Given the description of an element on the screen output the (x, y) to click on. 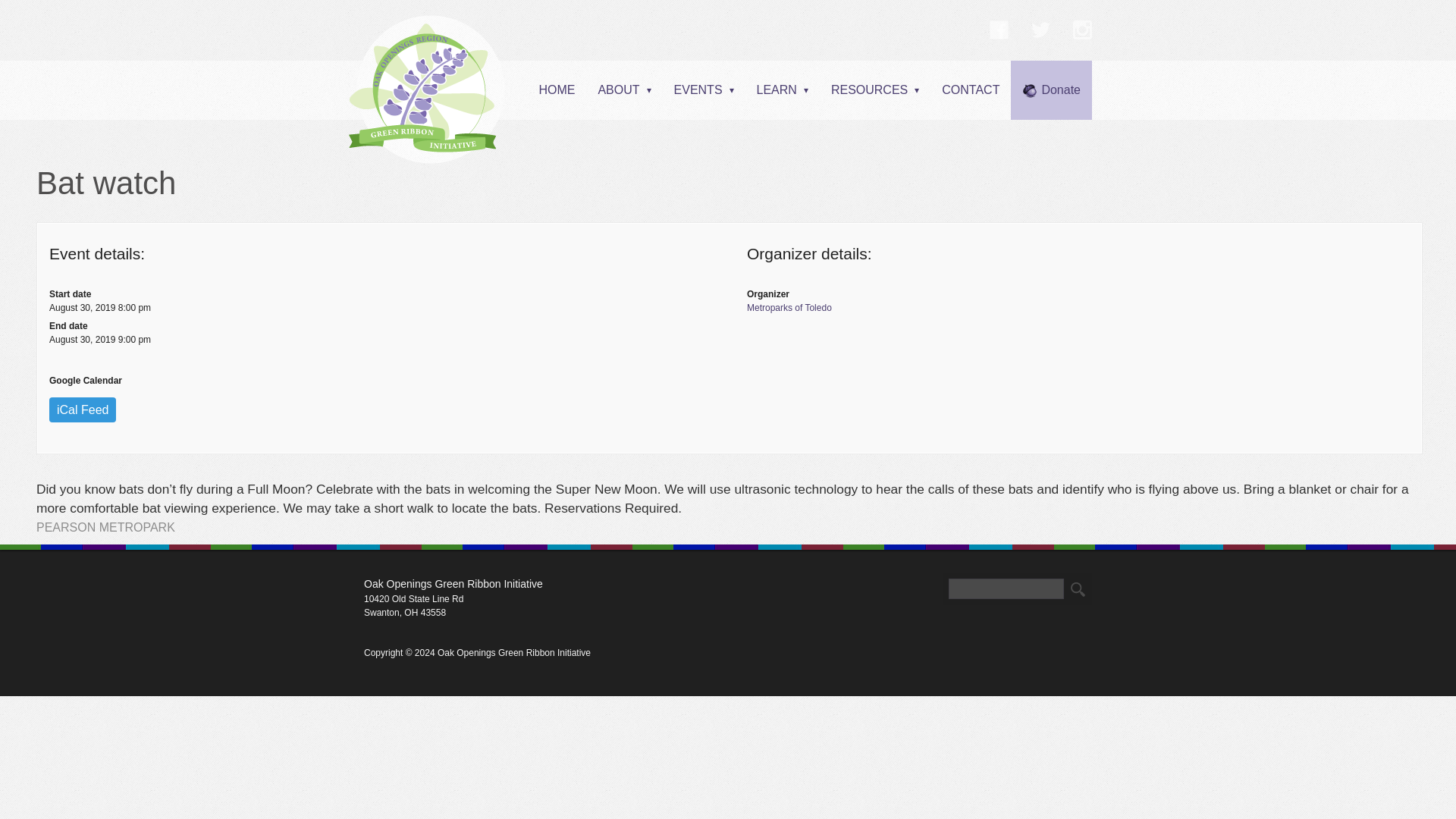
Oak Openings Region: Green Ribbon Initiative (427, 89)
CONTACT (970, 89)
ABOUT (624, 89)
LEARN (782, 89)
EVENTS (703, 89)
Metroparks of Toledo (1077, 307)
RESOURCES (874, 89)
HOME (556, 89)
Donate (1051, 89)
